Given the description of an element on the screen output the (x, y) to click on. 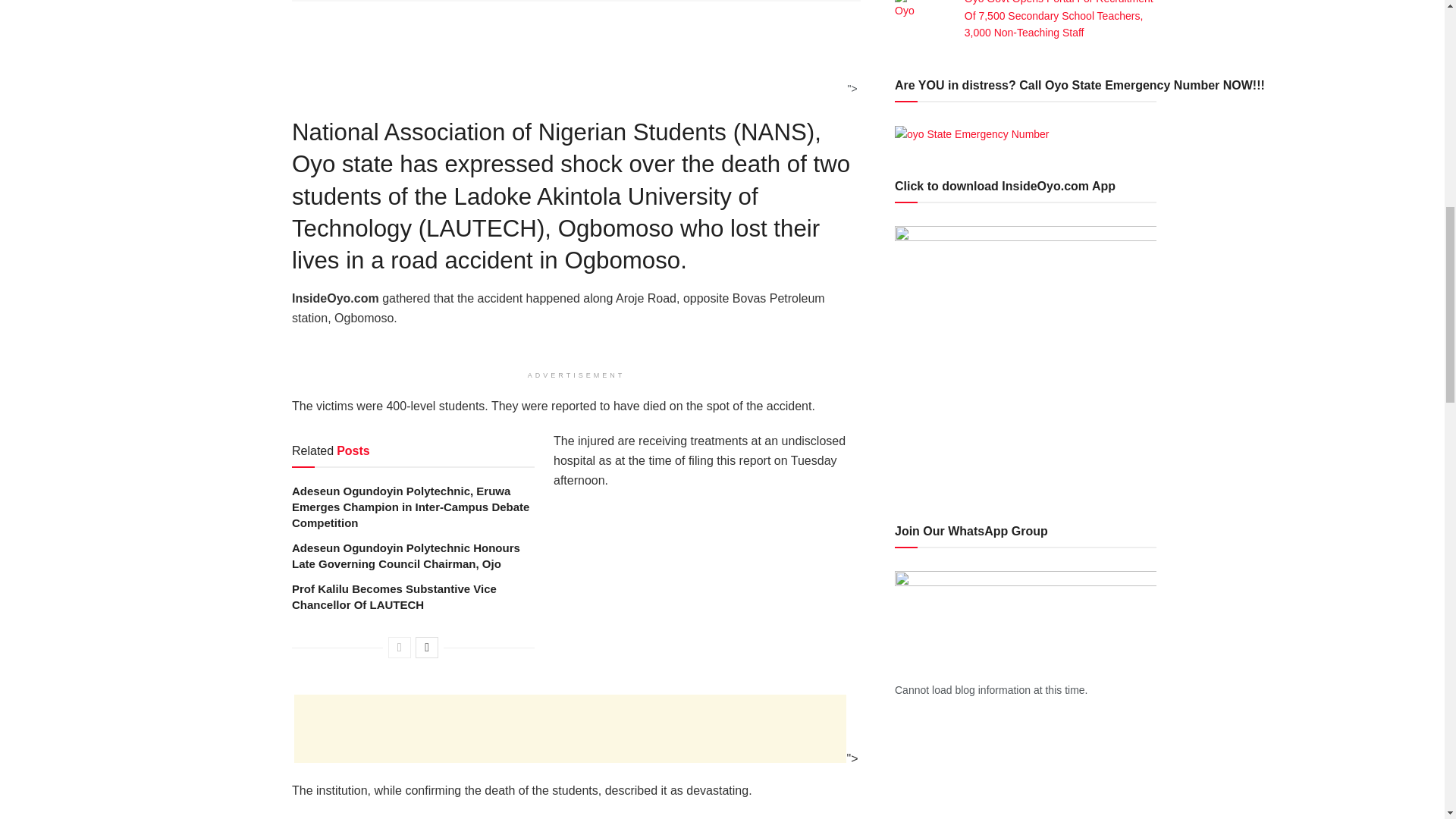
Next (426, 647)
Are YOU in distress? Call Oyo State Emergency Number NOW!!! (972, 134)
Previous (399, 647)
